Given the description of an element on the screen output the (x, y) to click on. 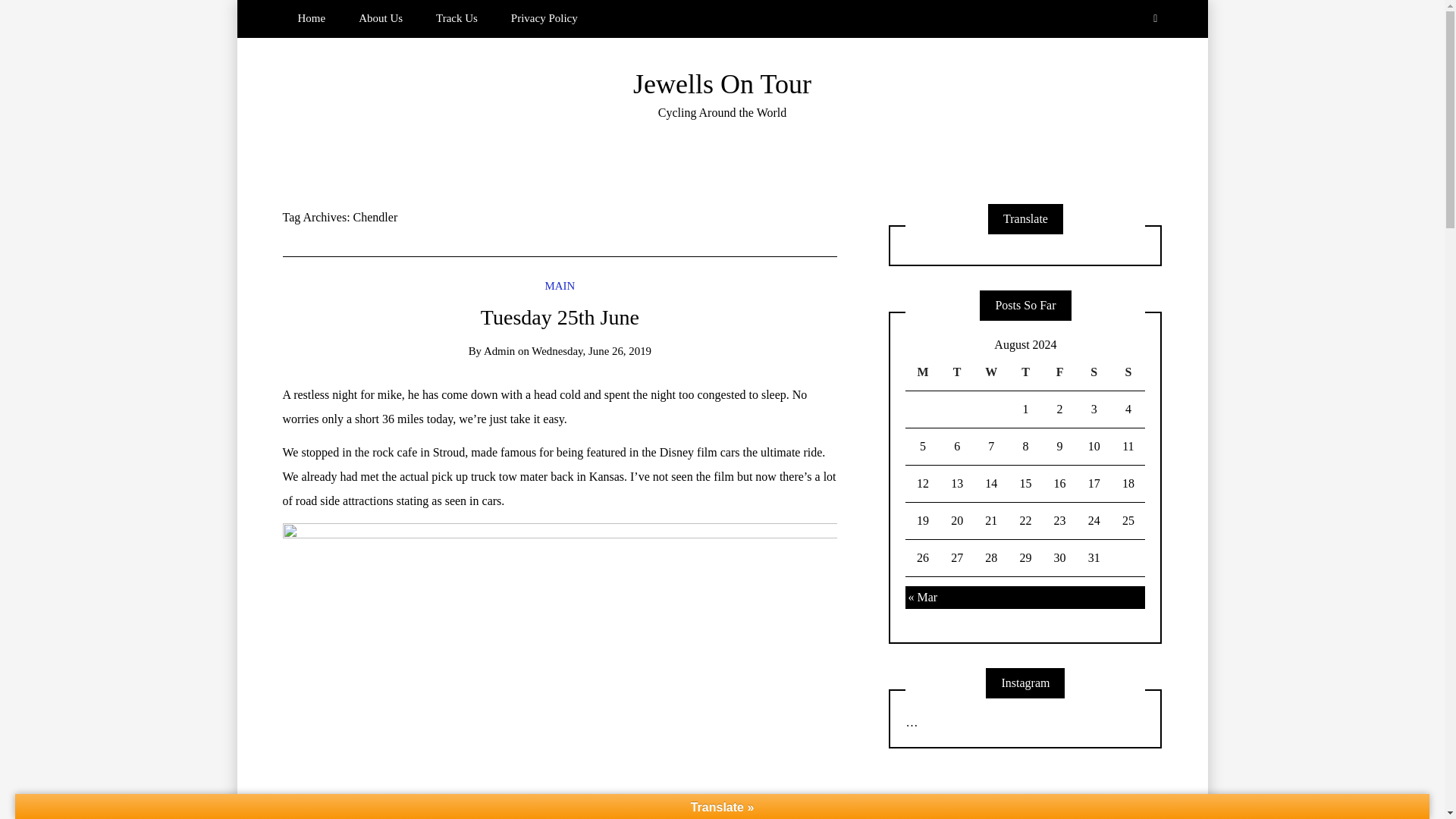
About Us (380, 18)
Posts by admin (499, 350)
MAIN (559, 285)
Monday (922, 372)
Wednesday (991, 372)
Thursday (1025, 372)
Admin (499, 350)
Privacy Policy (544, 18)
Tuesday (957, 372)
Sunday (1127, 372)
